Given the description of an element on the screen output the (x, y) to click on. 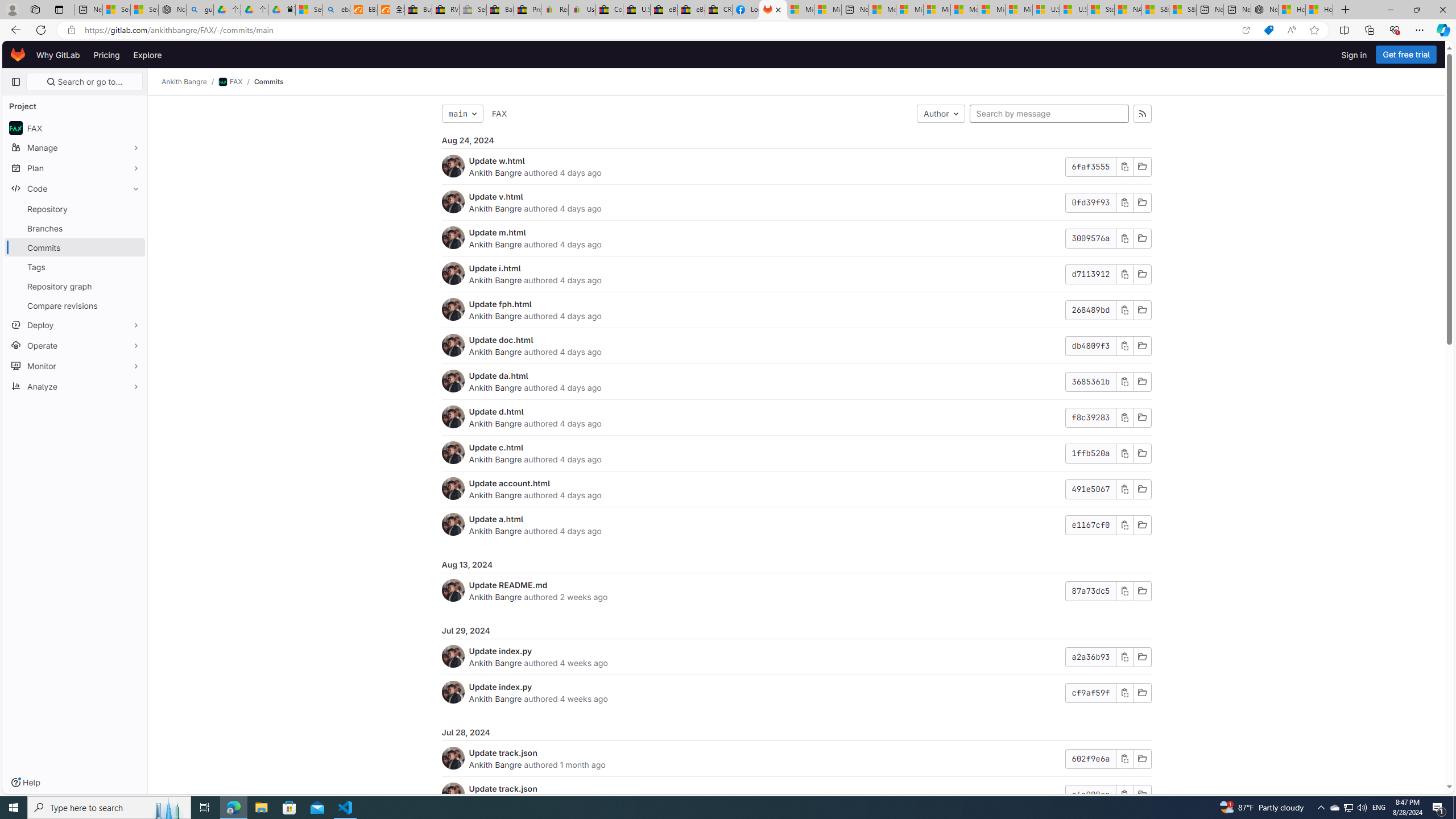
Get free trial (1406, 54)
Plan (74, 167)
Author (941, 113)
Analyze (74, 385)
Commits (268, 81)
FAX (499, 113)
Help (25, 782)
Operate (74, 344)
Monitor (74, 365)
Deploy (74, 324)
Explore (146, 54)
